Given the description of an element on the screen output the (x, y) to click on. 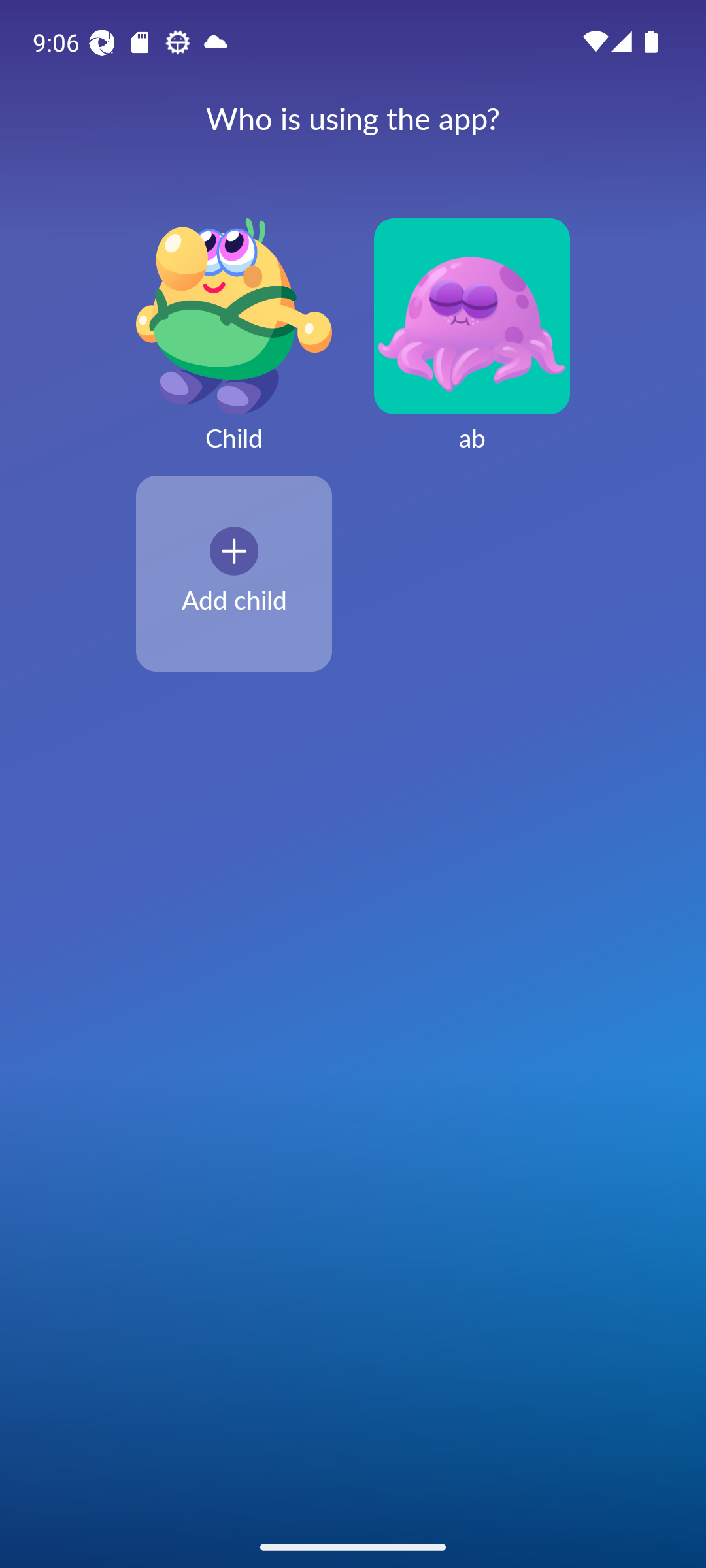
Child (233, 346)
ab (471, 346)
Add child (233, 573)
